Given the description of an element on the screen output the (x, y) to click on. 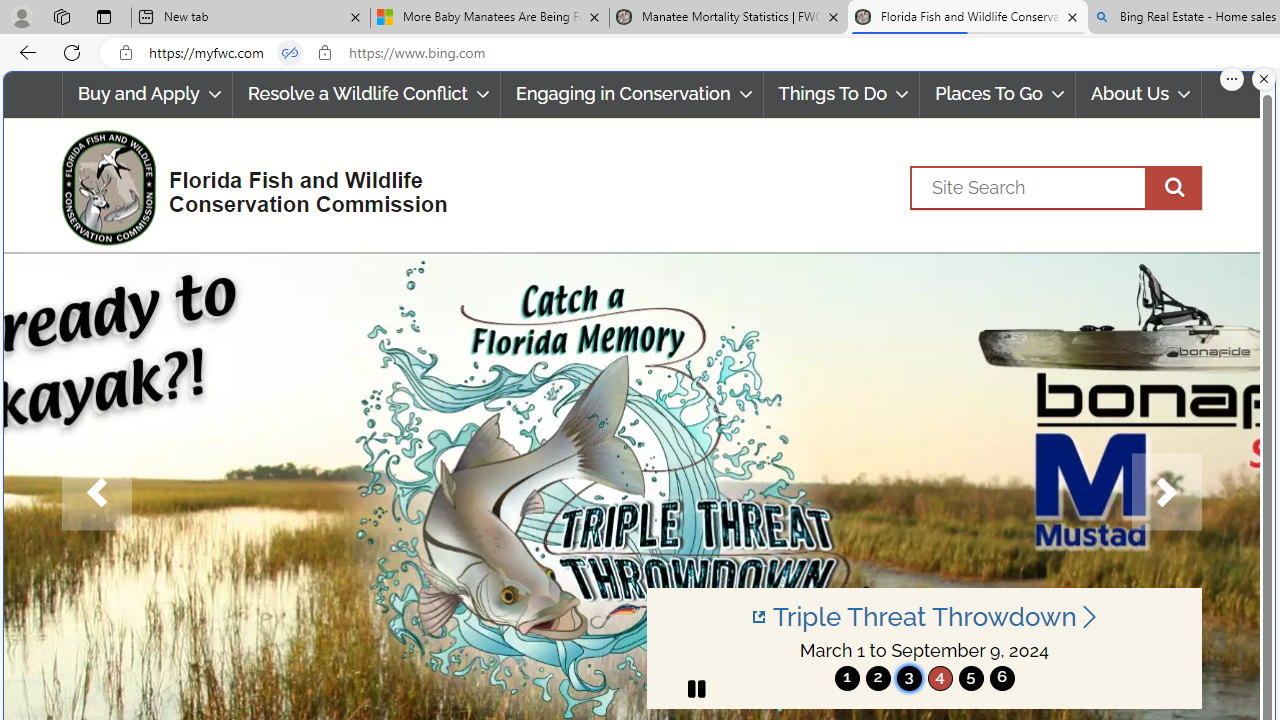
move to slide 5 (970, 678)
Things To Do (841, 94)
Close tab (1072, 16)
Triple Threat Throwdown  (924, 616)
Engaging in Conservation (631, 94)
Manatee Mortality Statistics | FWC (729, 17)
Next (1166, 491)
1 (847, 678)
Things To Do (841, 94)
Workspaces (61, 16)
Florida Fish and Wildlife Conservation Commission | FWC (967, 17)
Back (24, 52)
Refresh (72, 52)
Buy and Apply (146, 94)
About Us (1138, 94)
